Given the description of an element on the screen output the (x, y) to click on. 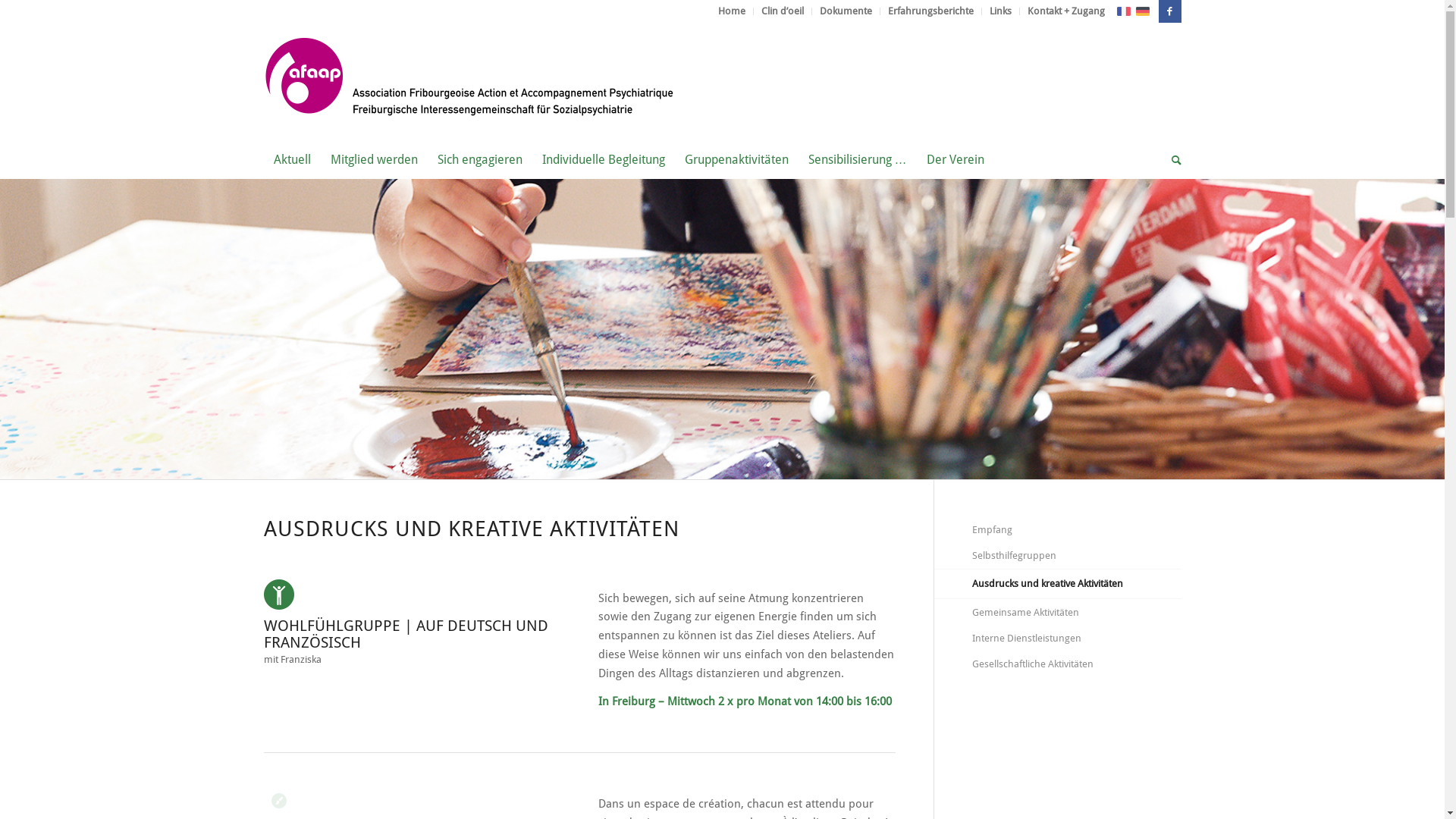
Erfahrungsberichte Element type: text (929, 10)
Selbsthilfegruppen Element type: text (1076, 556)
Deutsch Element type: hover (1141, 11)
logo-312+txt2 Element type: hover (470, 81)
Kontakt + Zugang Element type: text (1065, 10)
Aktuell Element type: text (291, 159)
Individuelle Begleitung Element type: text (603, 159)
Der Verein Element type: text (954, 159)
Interne Dienstleistungen Element type: text (1076, 639)
Empfang Element type: text (1076, 530)
Facebook Element type: hover (1169, 11)
Sich engagieren Element type: text (479, 159)
header-activite1 Element type: hover (722, 329)
Dokumente Element type: text (845, 10)
Mitglied werden Element type: text (373, 159)
Home Element type: text (730, 10)
Links Element type: text (999, 10)
